Given the description of an element on the screen output the (x, y) to click on. 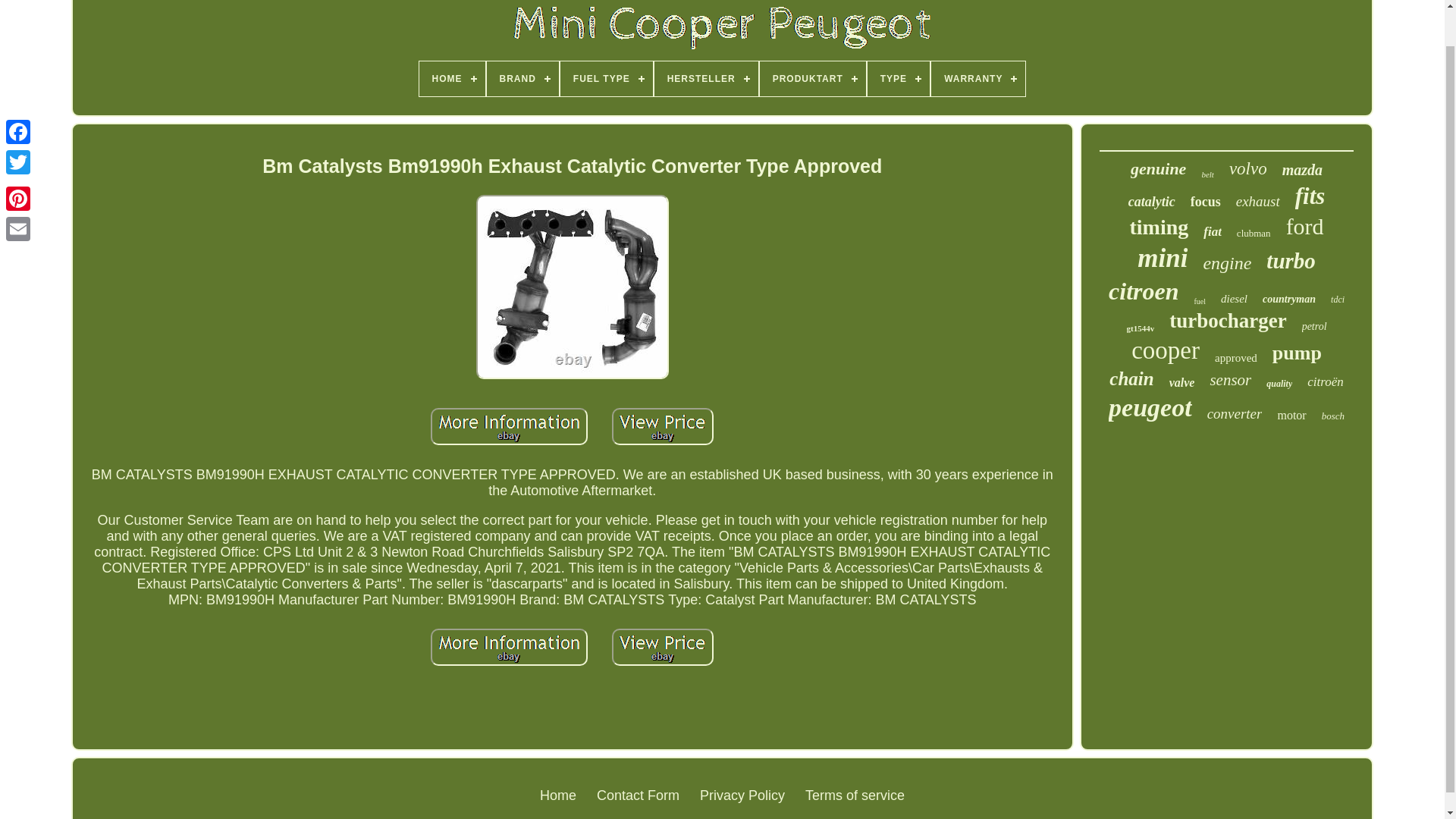
HERSTELLER (705, 78)
HOME (451, 78)
Twitter (17, 123)
BRAND (522, 78)
FUEL TYPE (606, 78)
